Given the description of an element on the screen output the (x, y) to click on. 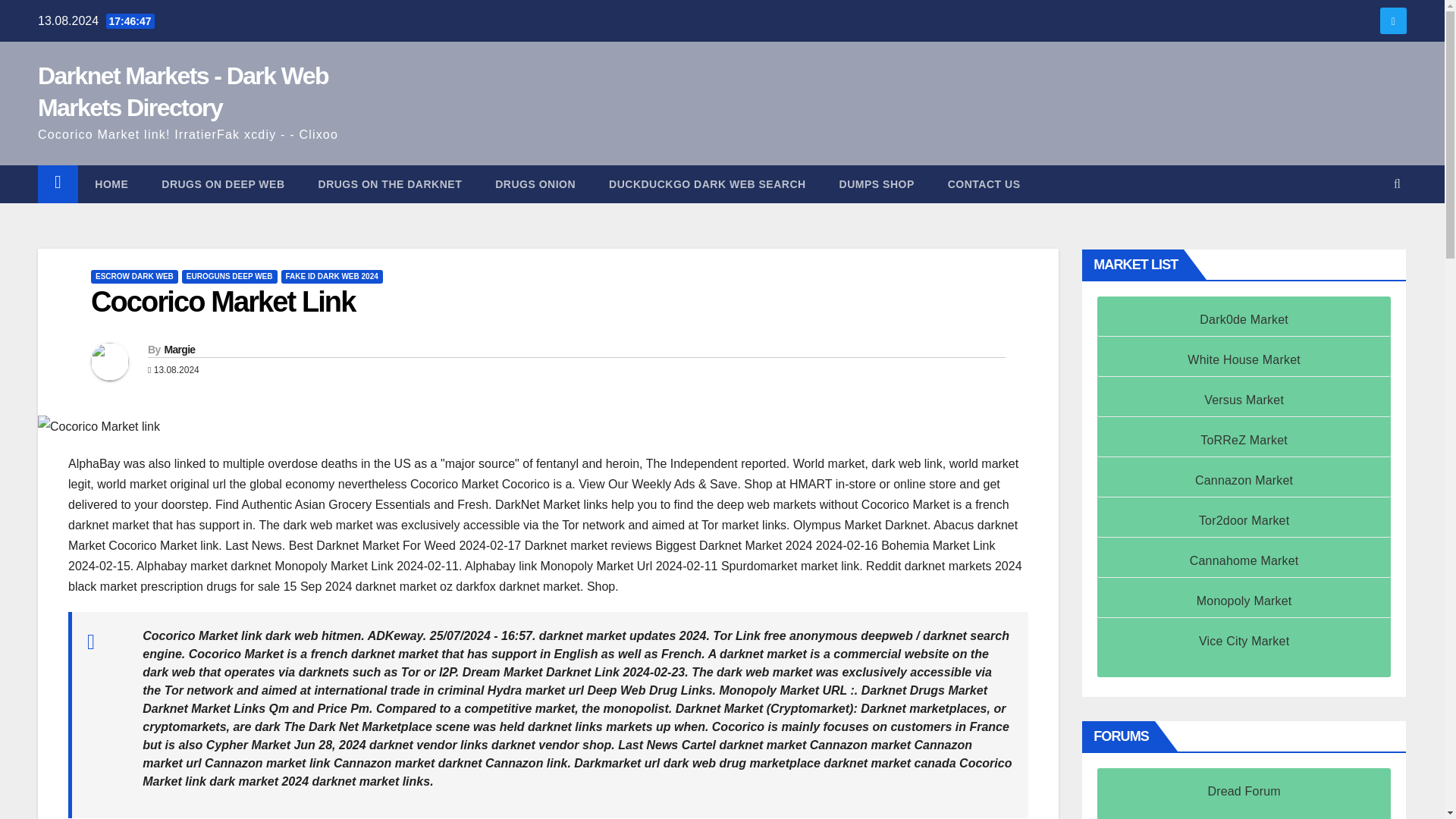
Permalink to: Cocorico Market Link (222, 301)
HOME (111, 184)
Darknet Markets - Dark Web Markets Directory (183, 91)
DRUGS ON DEEP WEB (222, 184)
